Given the description of an element on the screen output the (x, y) to click on. 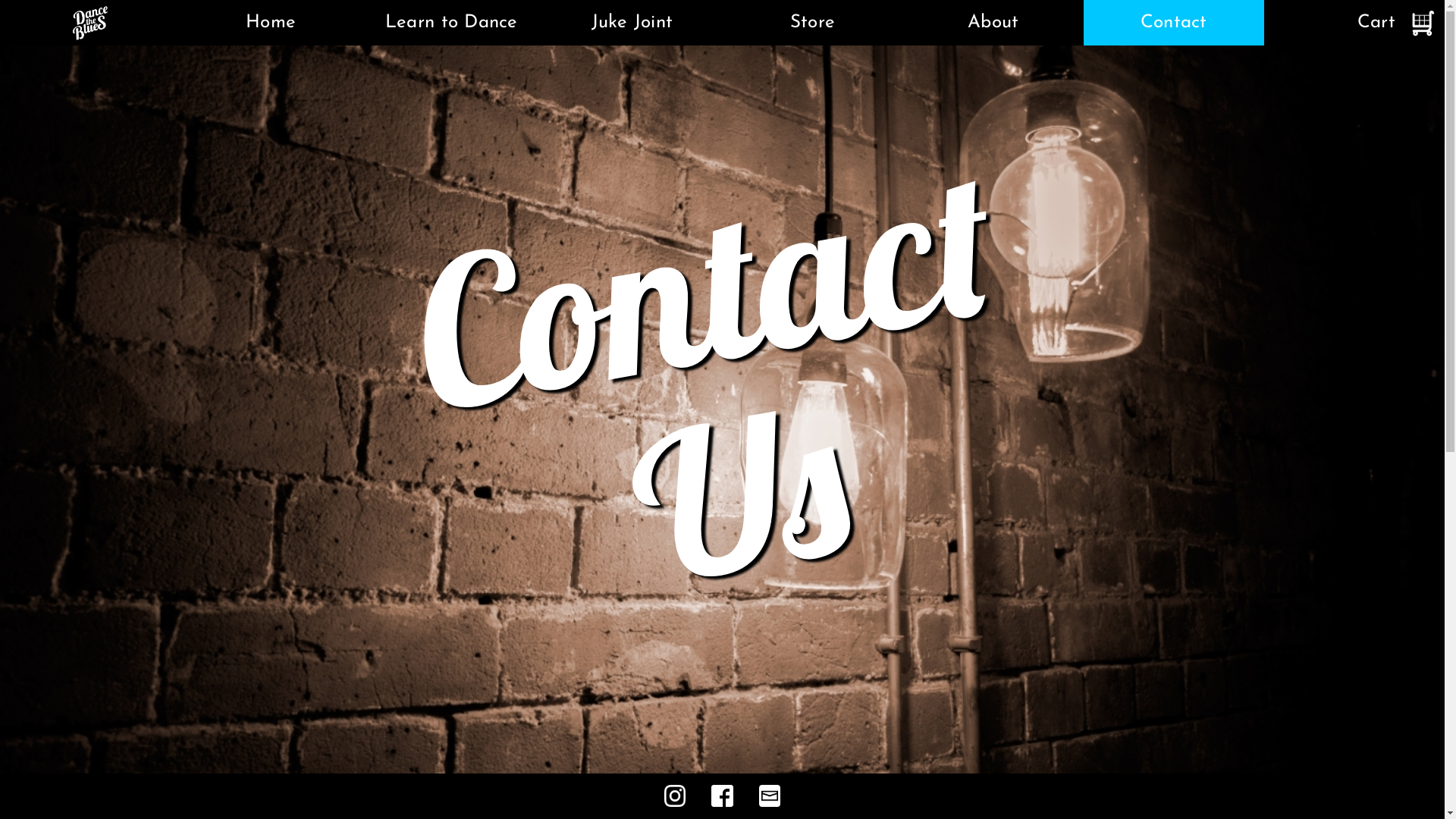
Store Element type: text (811, 22)
About Element type: text (993, 22)
Learn to Dance Element type: text (450, 22)
Home Element type: text (270, 22)
Cart Element type: text (1354, 22)
Juke Joint Element type: text (631, 22)
Contact Element type: text (1173, 22)
